Given the description of an element on the screen output the (x, y) to click on. 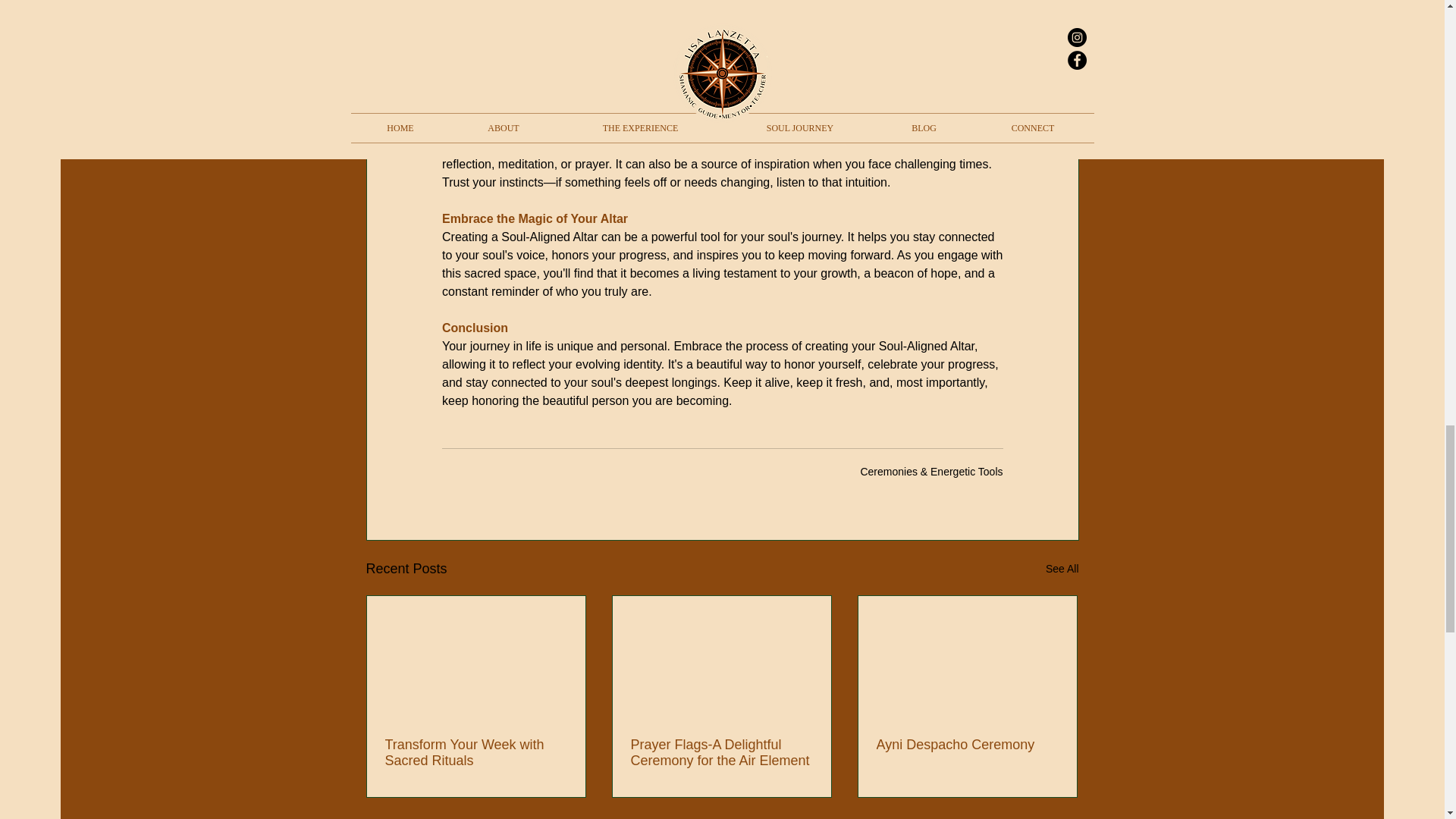
Transform Your Week with Sacred Rituals (476, 753)
Prayer Flags-A Delightful Ceremony for the Air Element (721, 753)
Ayni Despacho Ceremony (967, 744)
See All (1061, 568)
